Given the description of an element on the screen output the (x, y) to click on. 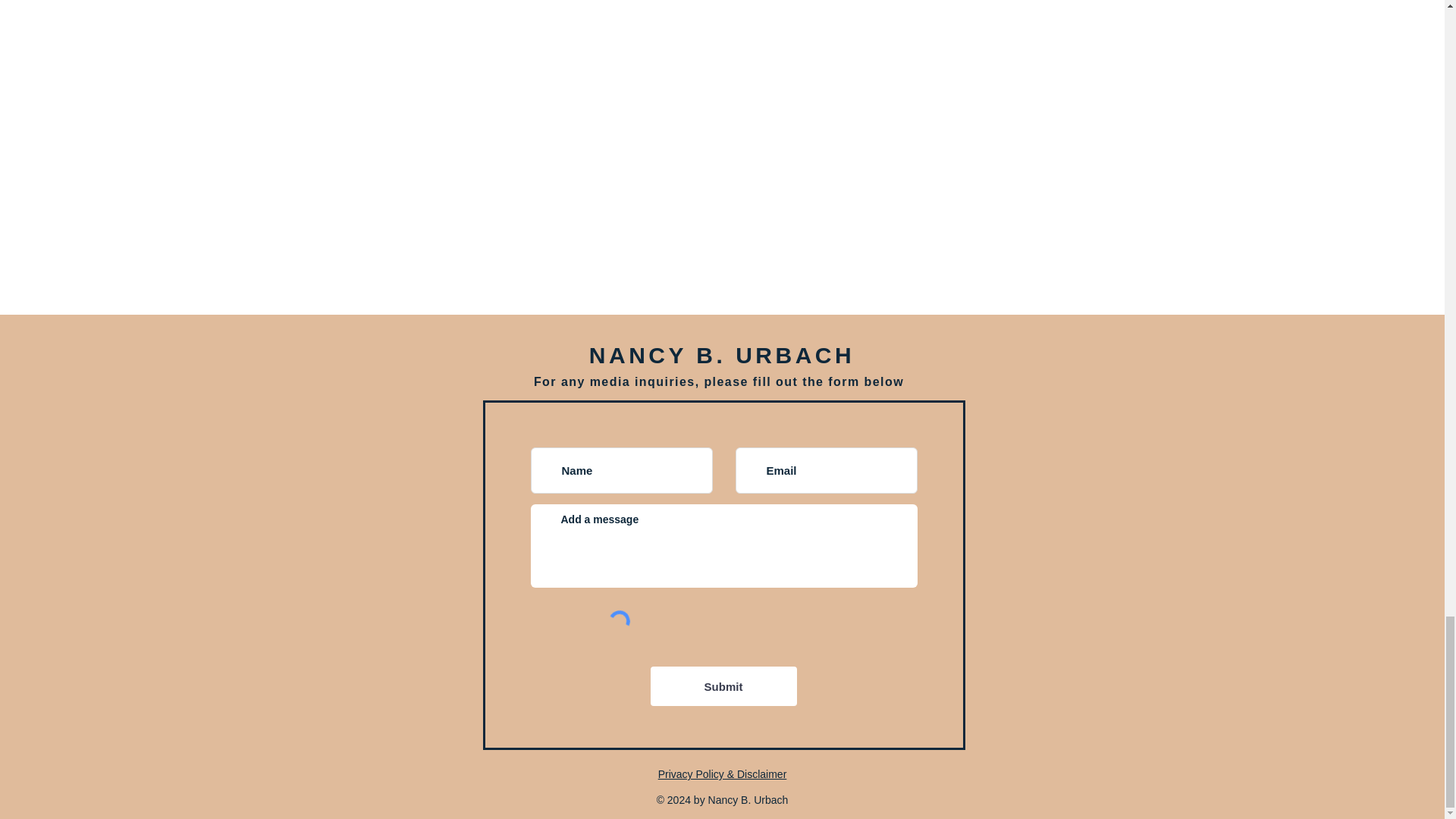
Submit (723, 685)
NANCY B. URBACH (721, 355)
